Given the description of an element on the screen output the (x, y) to click on. 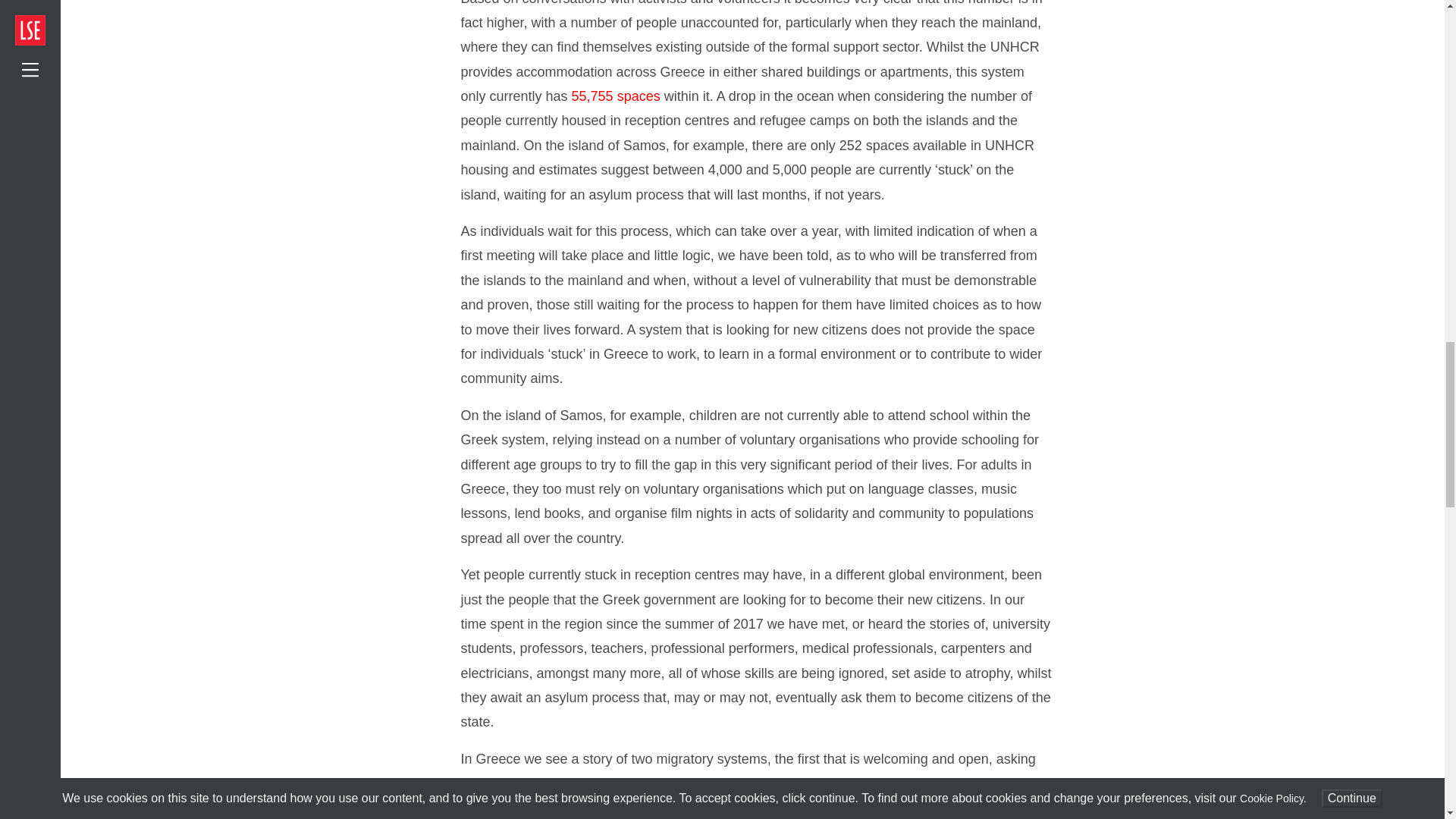
55,755 spaces (616, 96)
